Given the description of an element on the screen output the (x, y) to click on. 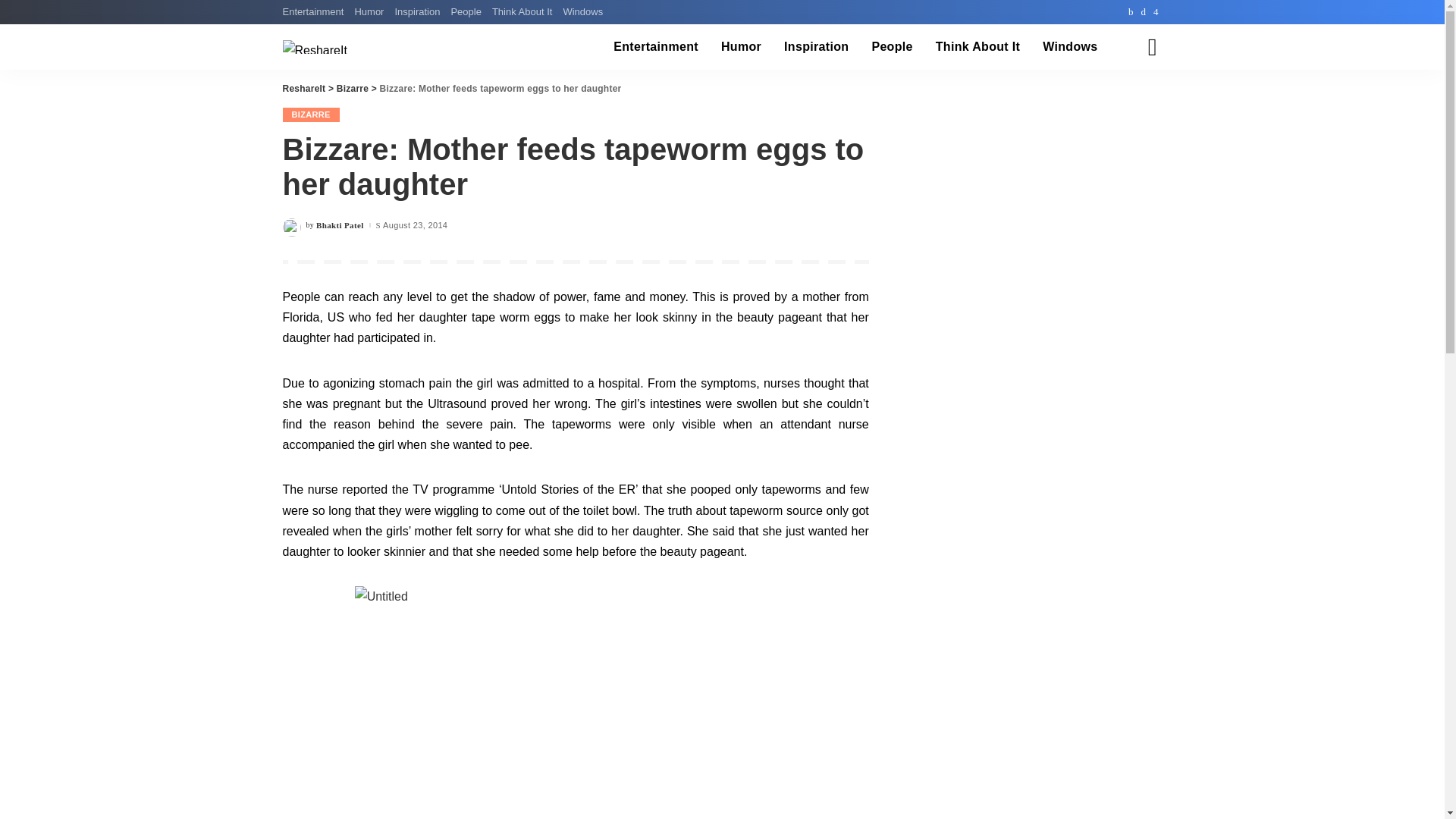
Humor (368, 11)
Think About It (977, 46)
Entertainment (315, 11)
People (891, 46)
Entertainment (656, 46)
People (465, 11)
Search (1140, 89)
ReshareIt (314, 47)
Windows (1069, 46)
Humor (741, 46)
2014-08-23T12:14:13-05:00 (414, 225)
Go to ReshareIt. (303, 88)
Inspiration (816, 46)
Go to the Bizarre Category archives. (352, 88)
Windows (582, 11)
